Given the description of an element on the screen output the (x, y) to click on. 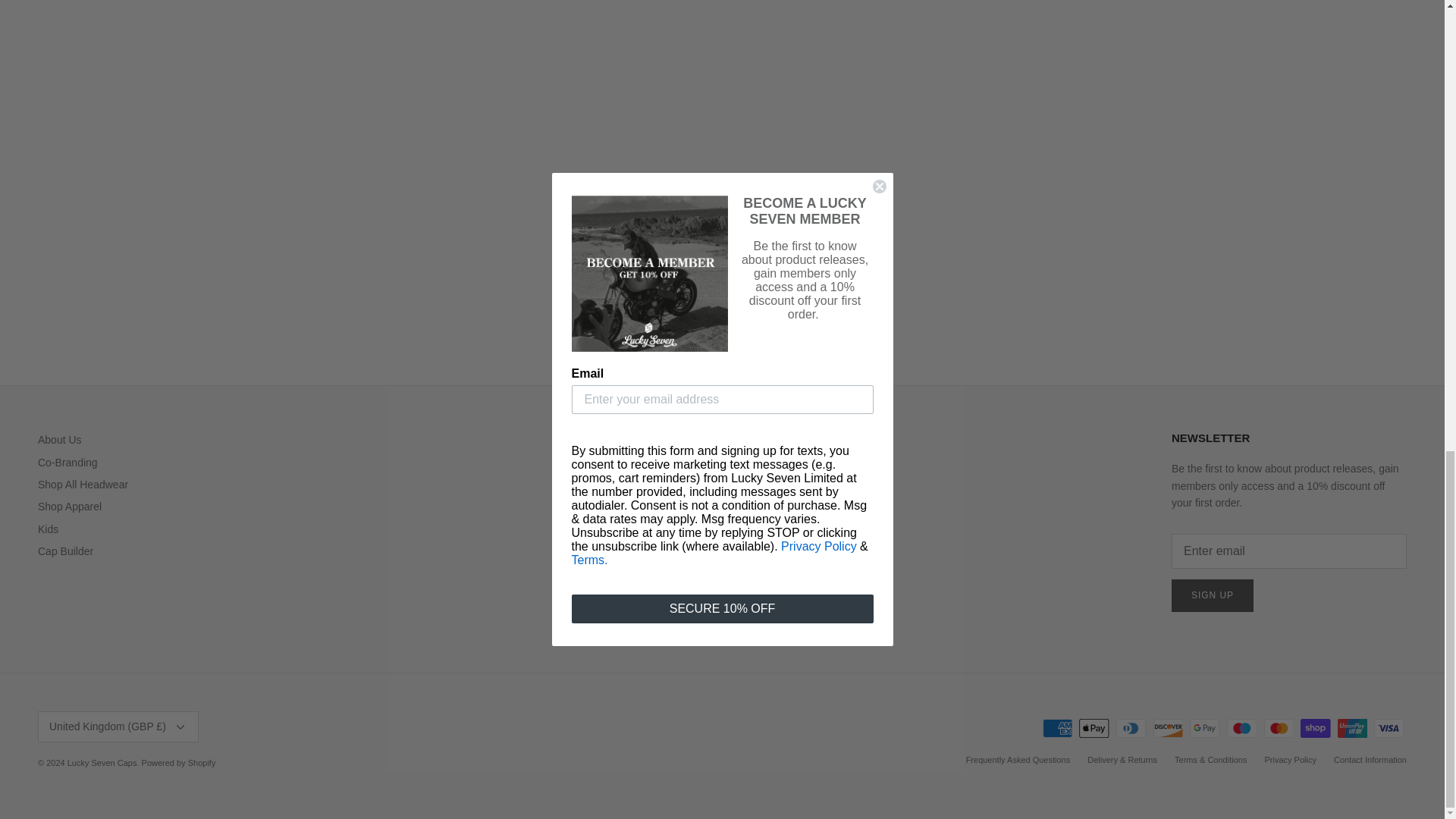
Maestro (1241, 728)
Discover (1168, 728)
Shop Pay (1315, 728)
American Express (1057, 728)
Apple Pay (1093, 728)
Diners Club (1130, 728)
Mastercard (1277, 728)
Google Pay (1204, 728)
